Given the description of an element on the screen output the (x, y) to click on. 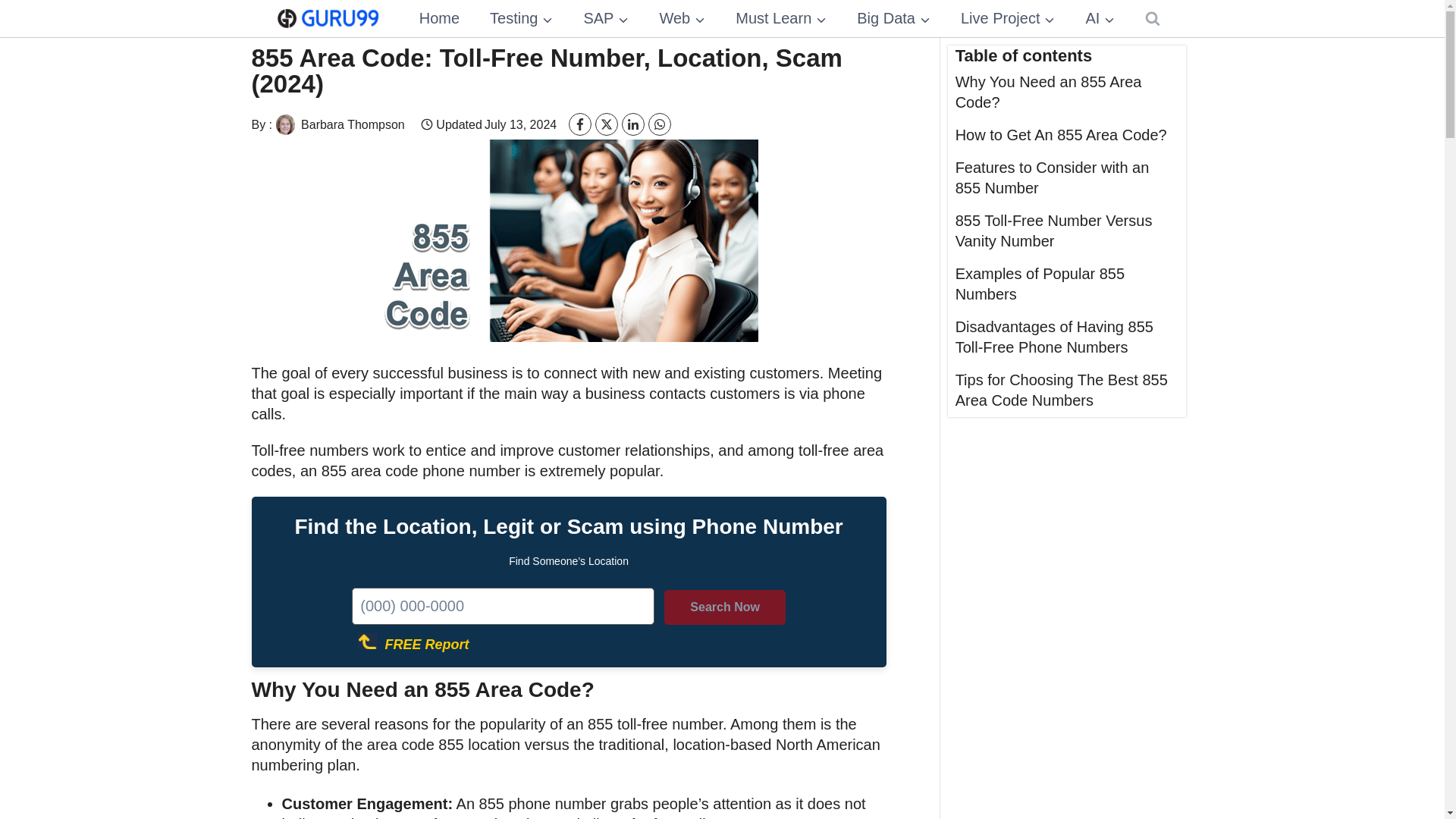
Home (439, 18)
Posts by Barbara Thompson (338, 123)
SAP (605, 18)
Testing (520, 18)
